Given the description of an element on the screen output the (x, y) to click on. 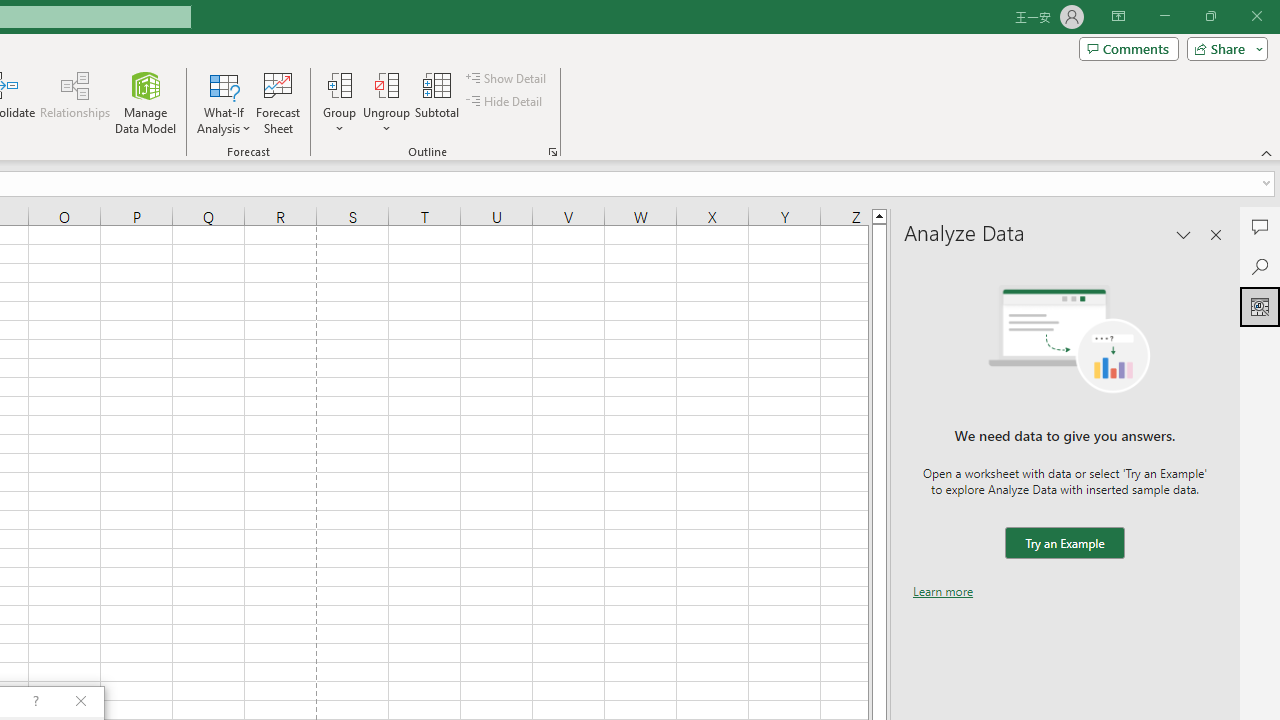
Manage Data Model (145, 102)
Forecast Sheet (278, 102)
We need data to give you answers. Try an Example (1064, 543)
Subtotal (437, 102)
Analyze Data (1260, 306)
Search (1260, 266)
Hide Detail (505, 101)
